Given the description of an element on the screen output the (x, y) to click on. 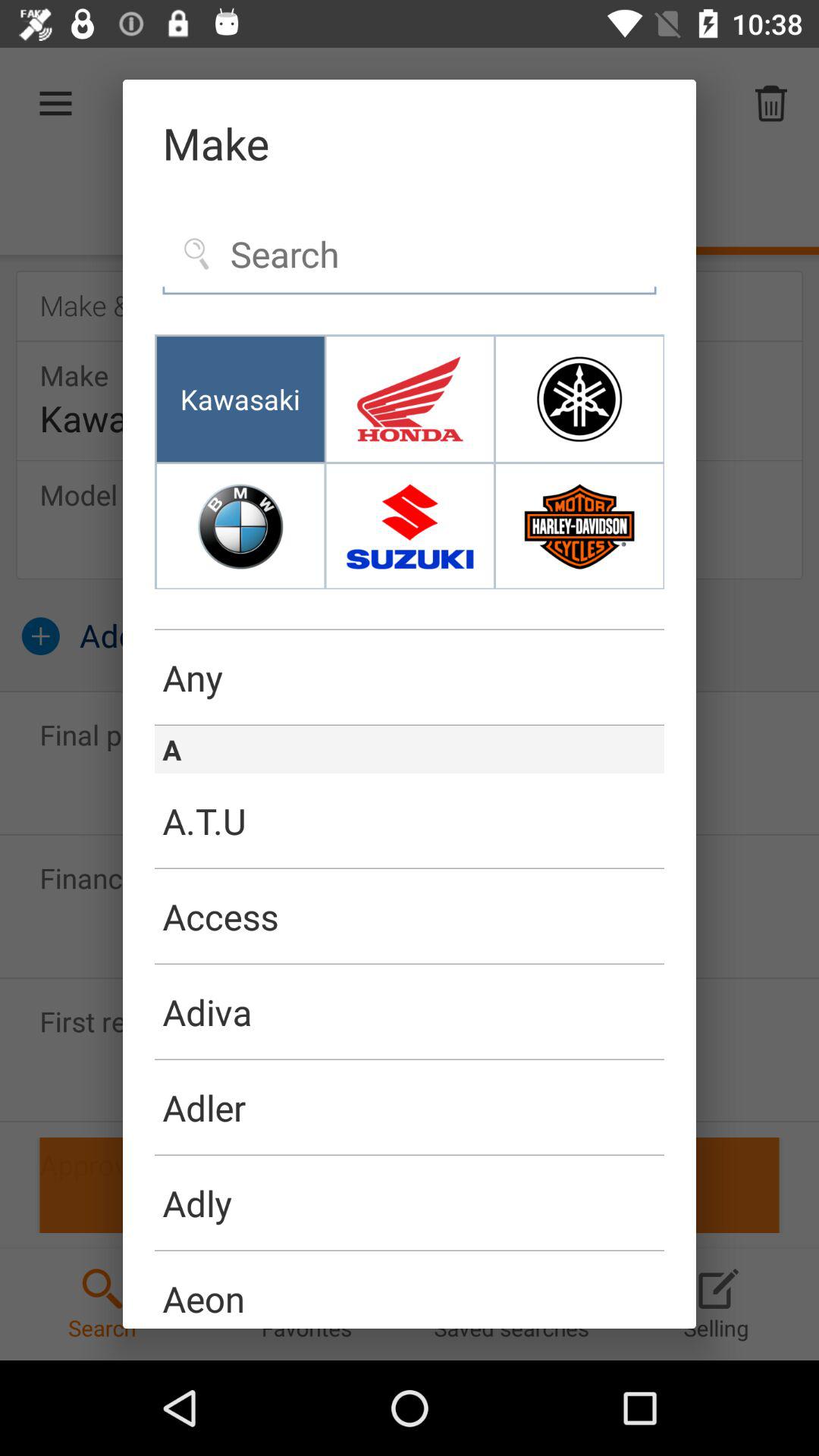
turn on the icon above adiva icon (409, 963)
